Given the description of an element on the screen output the (x, y) to click on. 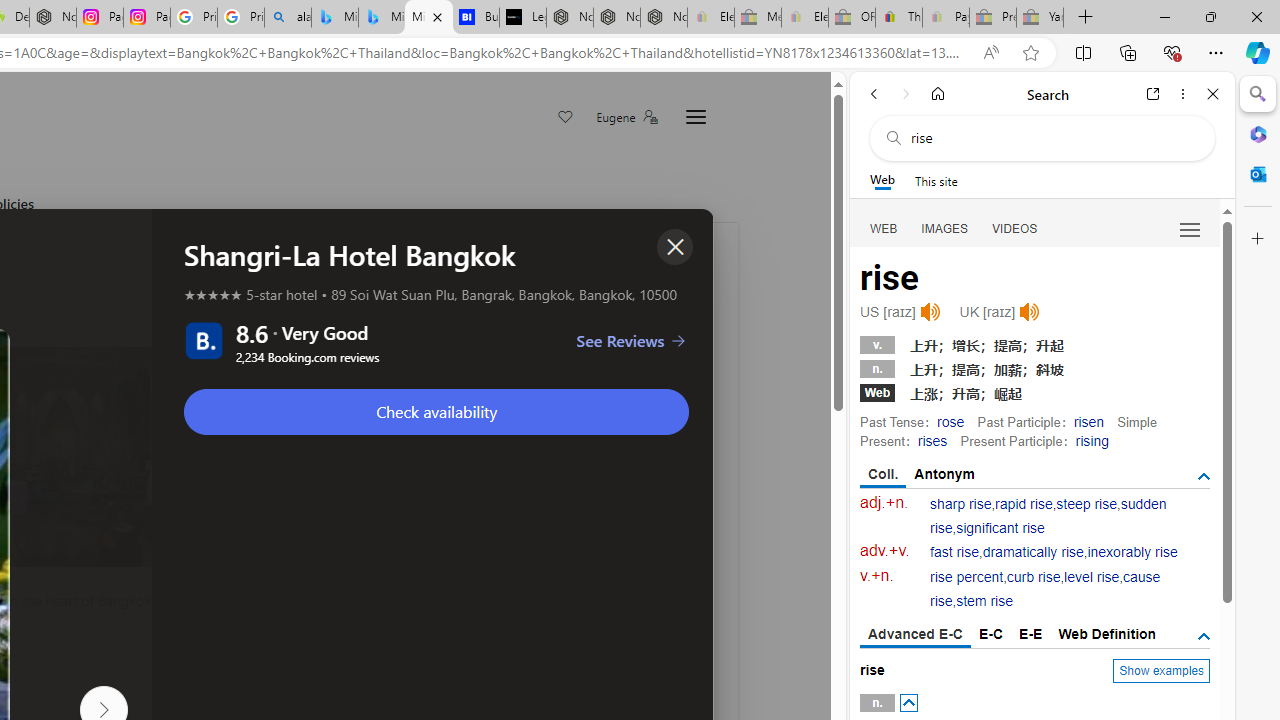
Press Room - eBay Inc. - Sleeping (993, 17)
WEB (884, 228)
AutomationID: posbtn_0 (908, 703)
stem rise (984, 601)
